Given the description of an element on the screen output the (x, y) to click on. 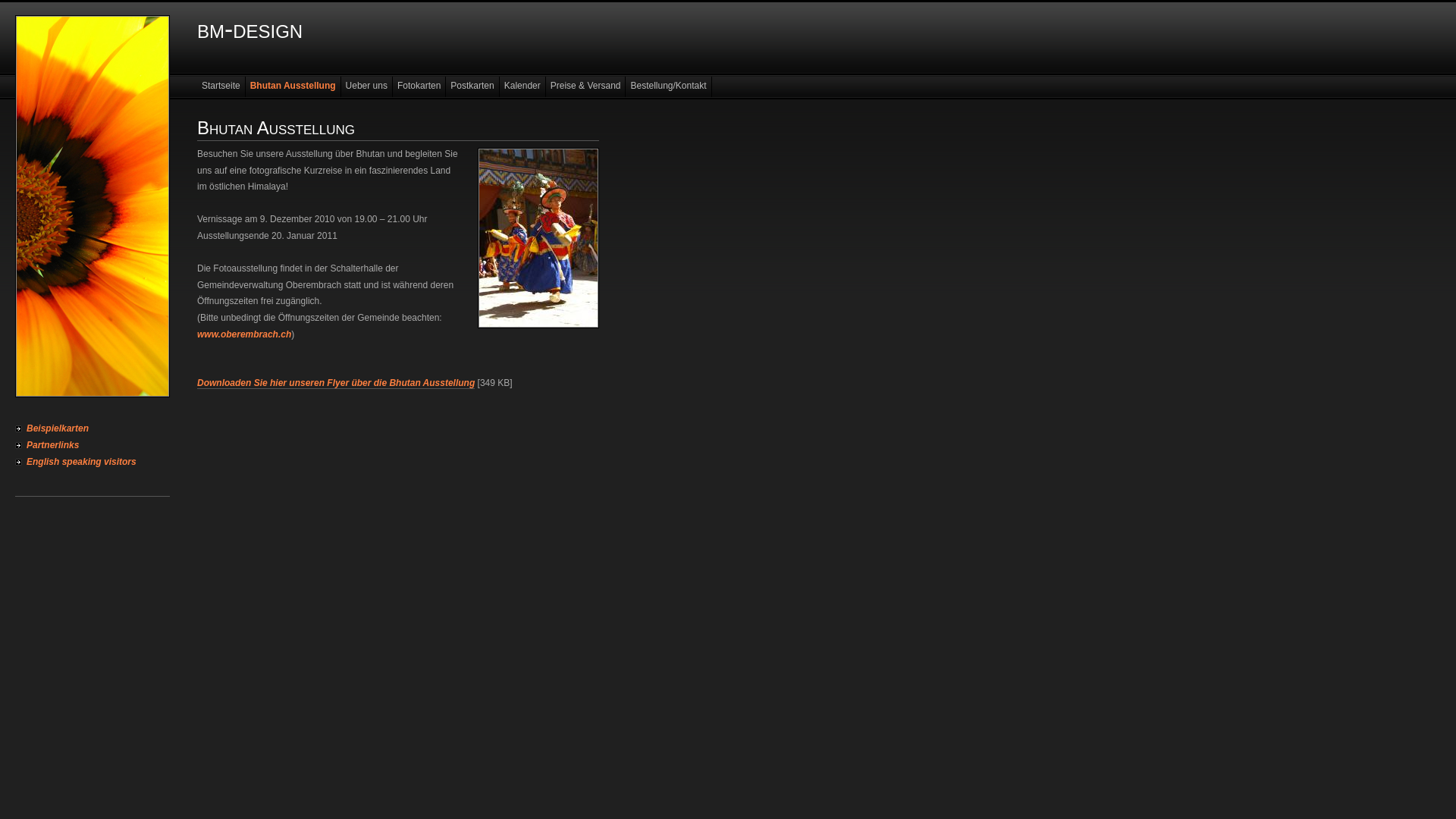
Startseite Element type: text (221, 86)
Preise & Versand Element type: text (586, 86)
Partnerlinks Element type: text (92, 444)
Beispielkarten Element type: text (92, 428)
Fotokarten Element type: text (418, 86)
www.oberembrach.ch Element type: text (244, 334)
Bhutan Ausstellung Element type: text (293, 86)
Kalender Element type: text (522, 86)
Bestellung/Kontakt Element type: text (668, 86)
Postkarten Element type: text (471, 86)
Ueber uns Element type: text (366, 86)
English speaking visitors Element type: text (92, 461)
